Given the description of an element on the screen output the (x, y) to click on. 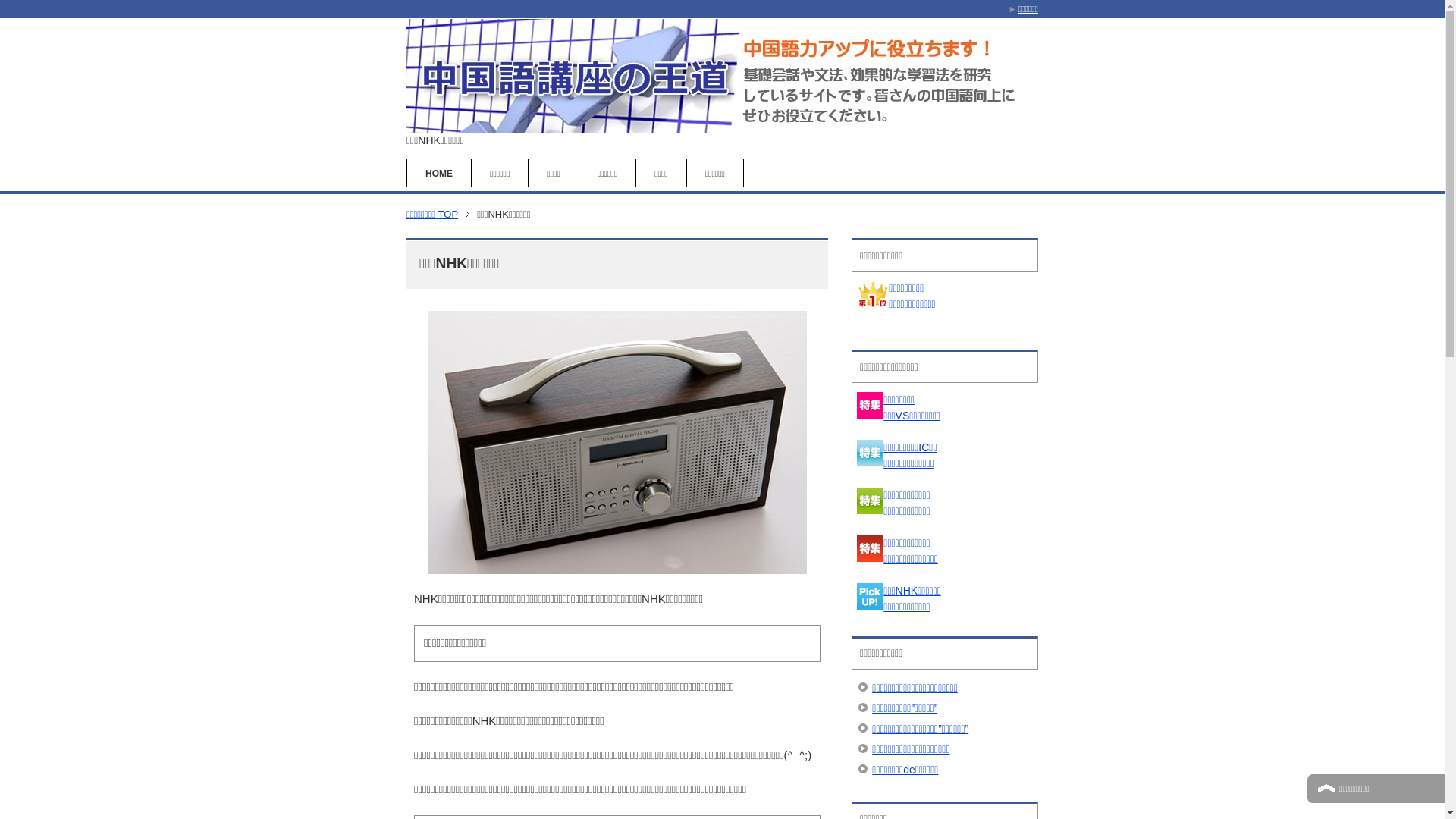
HOME Element type: text (438, 173)
